Given the description of an element on the screen output the (x, y) to click on. 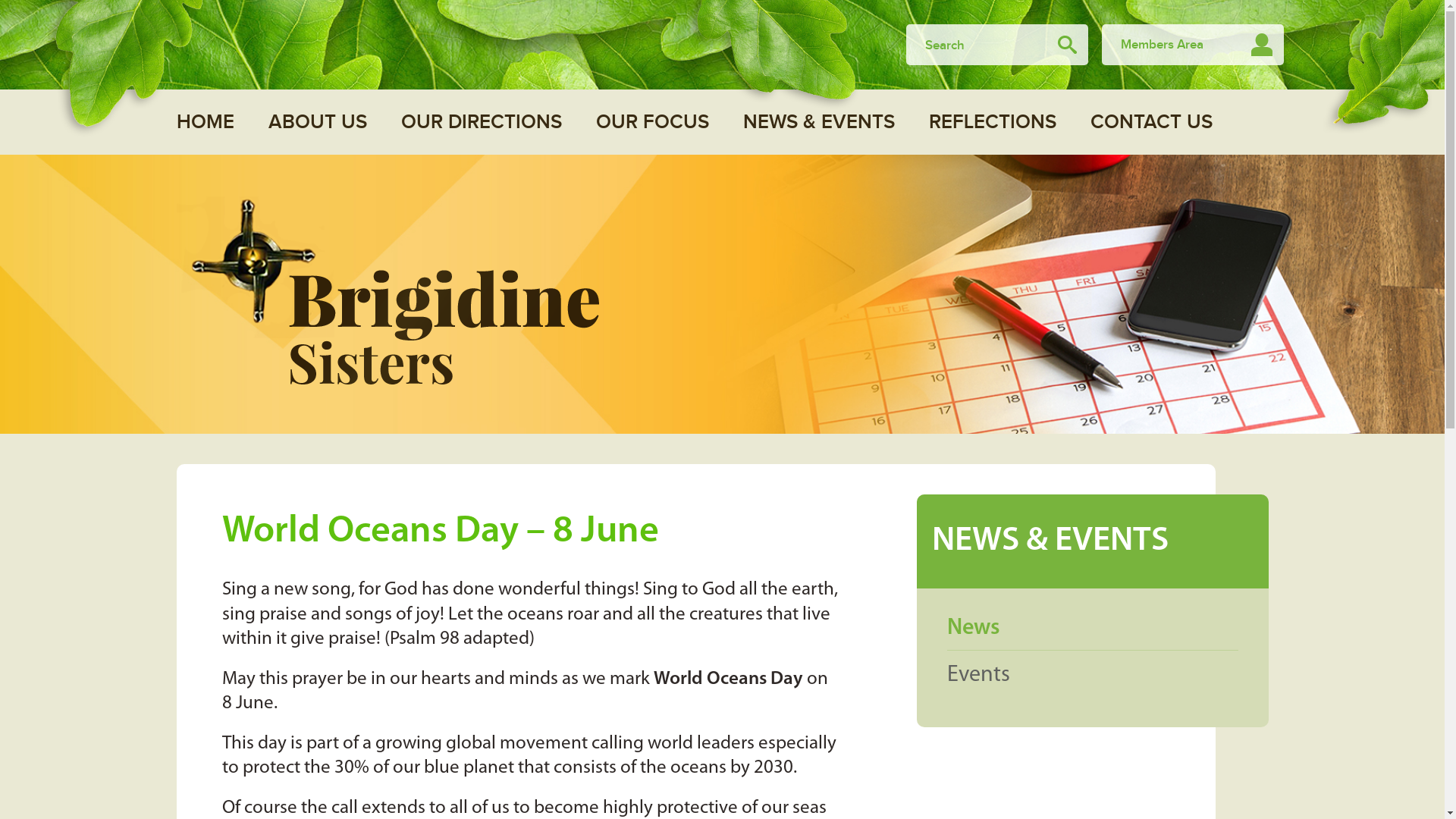
Members Area Element type: text (1192, 44)
OUR FOCUS Element type: text (652, 121)
HOME Element type: text (204, 121)
Events Element type: text (1092, 675)
CONTACT US Element type: text (1151, 121)
ABOUT US Element type: text (317, 121)
NEWS & EVENTS Element type: text (818, 121)
REFLECTIONS Element type: text (991, 121)
OUR DIRECTIONS Element type: text (480, 121)
News Element type: text (1092, 628)
